Given the description of an element on the screen output the (x, y) to click on. 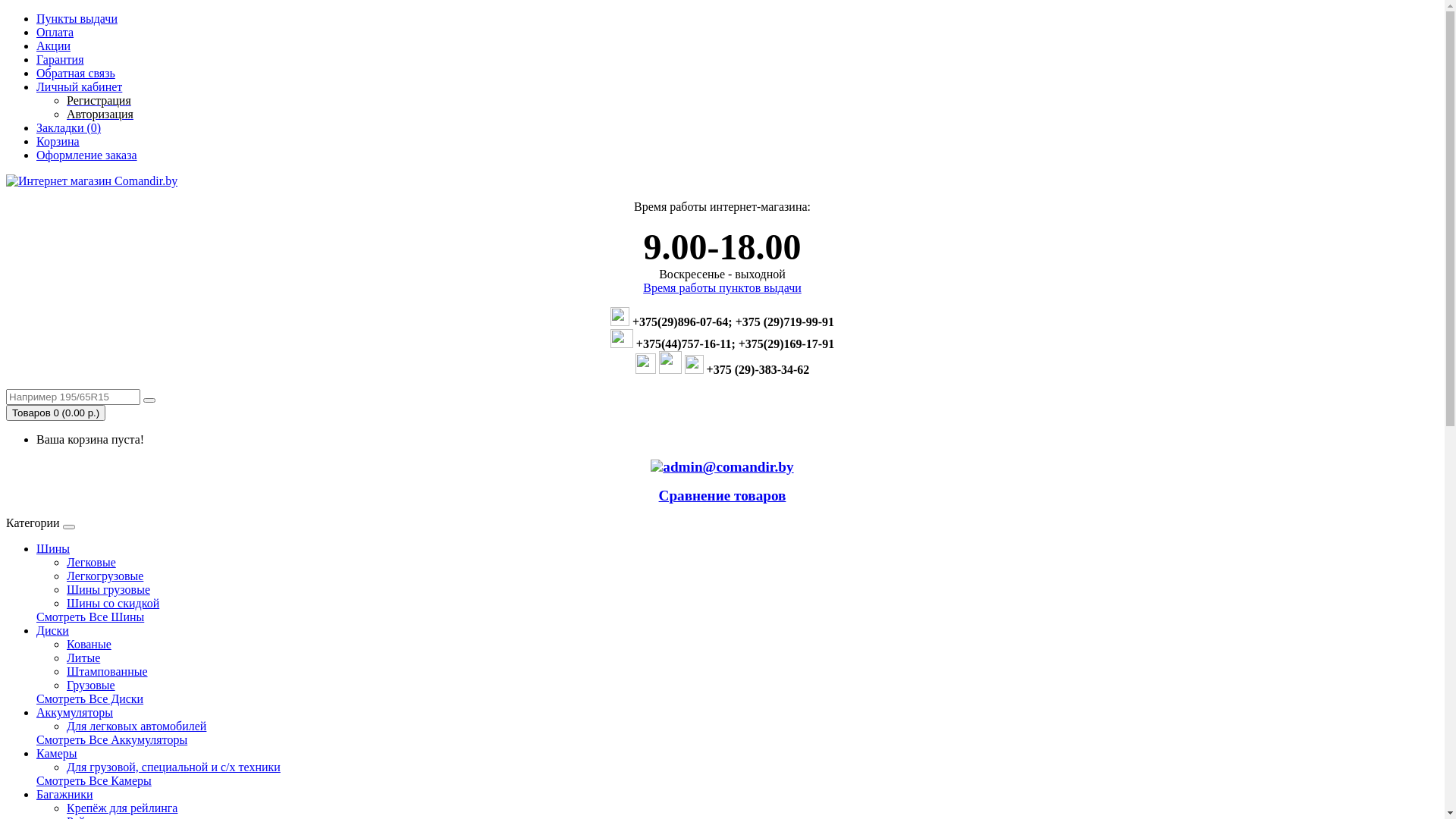
admin@comandir.by Element type: text (727, 467)
